Given the description of an element on the screen output the (x, y) to click on. 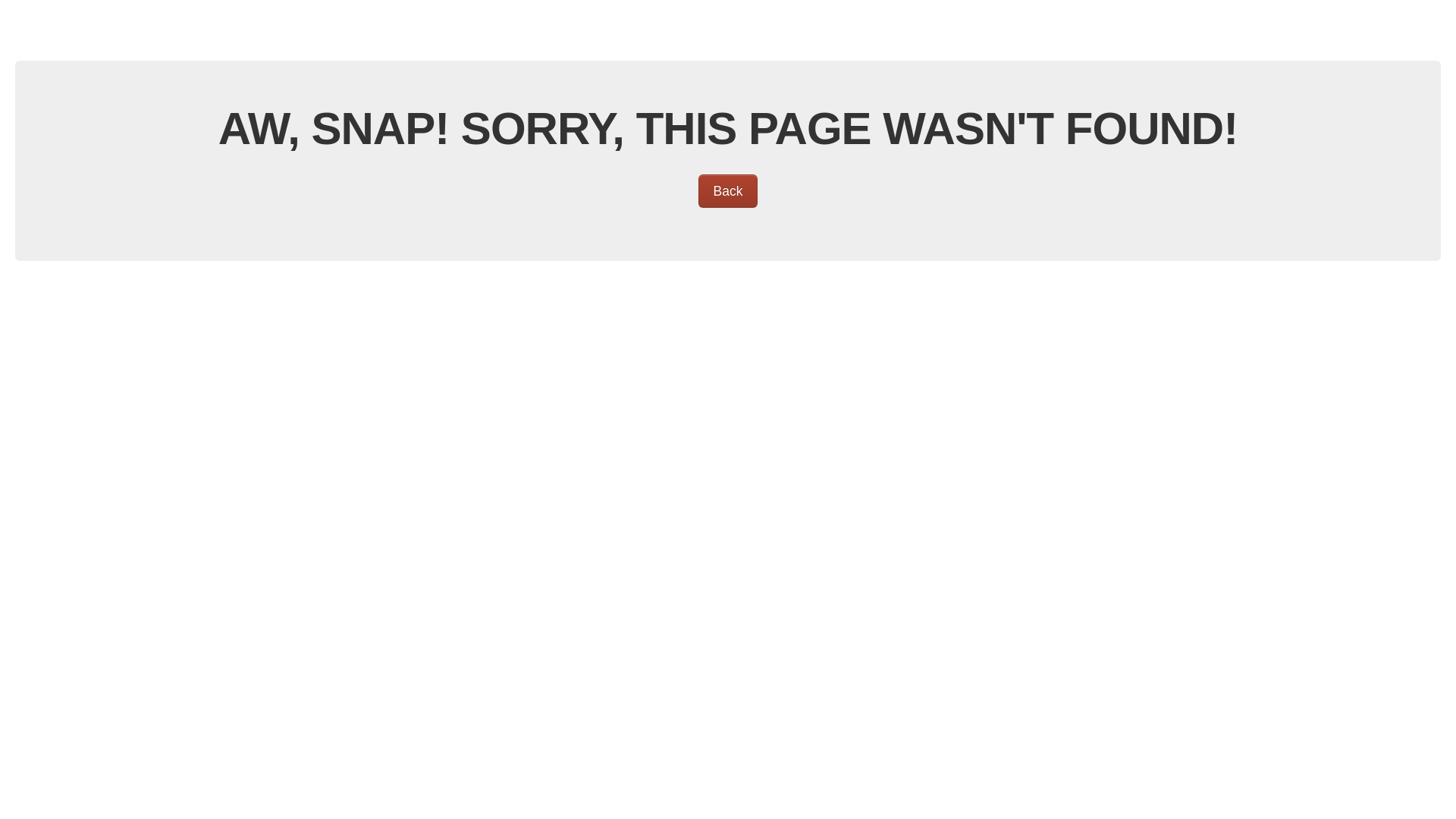
Back Element type: text (728, 190)
